Given the description of an element on the screen output the (x, y) to click on. 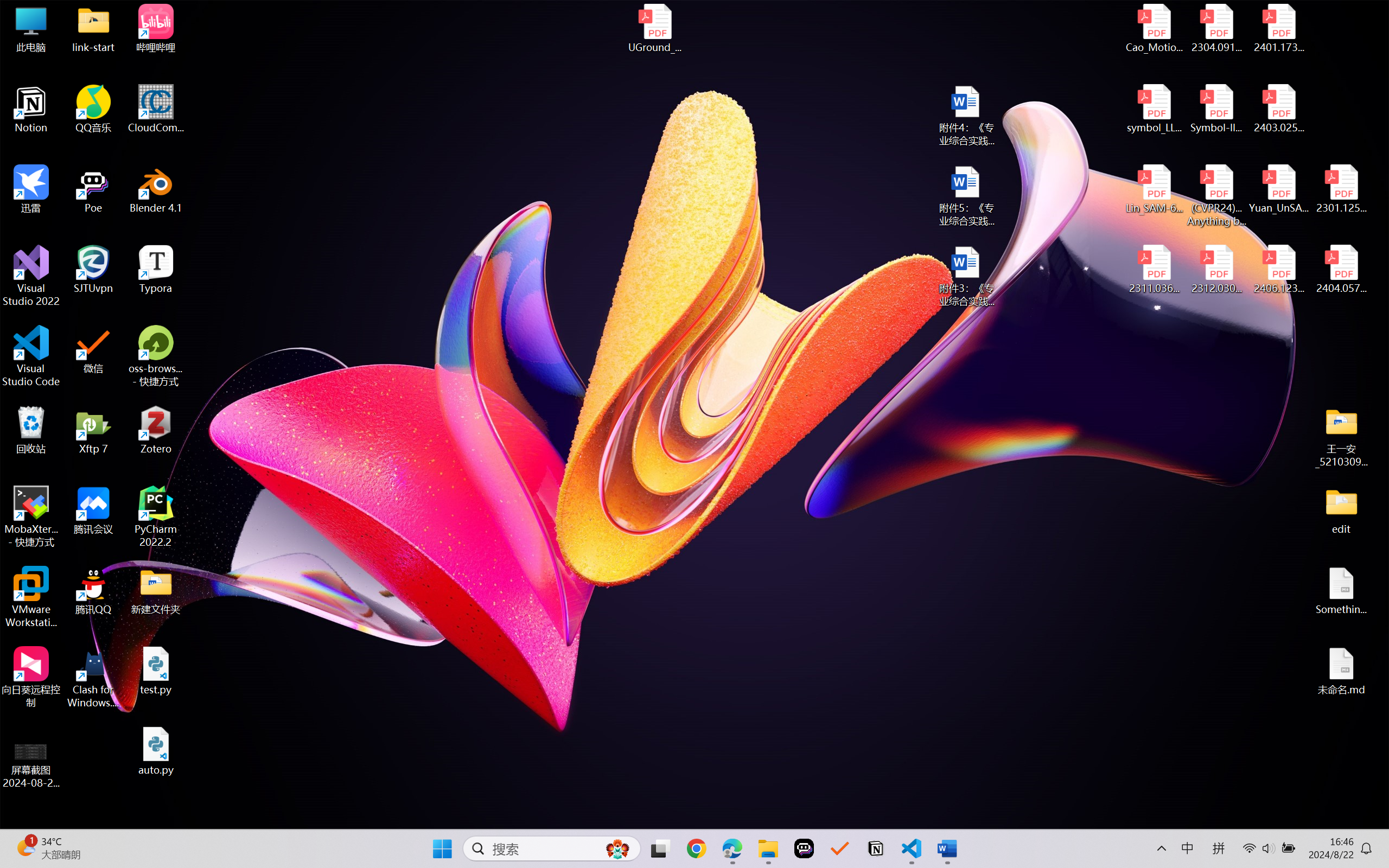
(CVPR24)Matching Anything by Segmenting Anything.pdf (1216, 195)
Visual Studio Code (31, 355)
2403.02502v1.pdf (1278, 109)
Visual Studio 2022 (31, 276)
Google Chrome (696, 848)
